Given the description of an element on the screen output the (x, y) to click on. 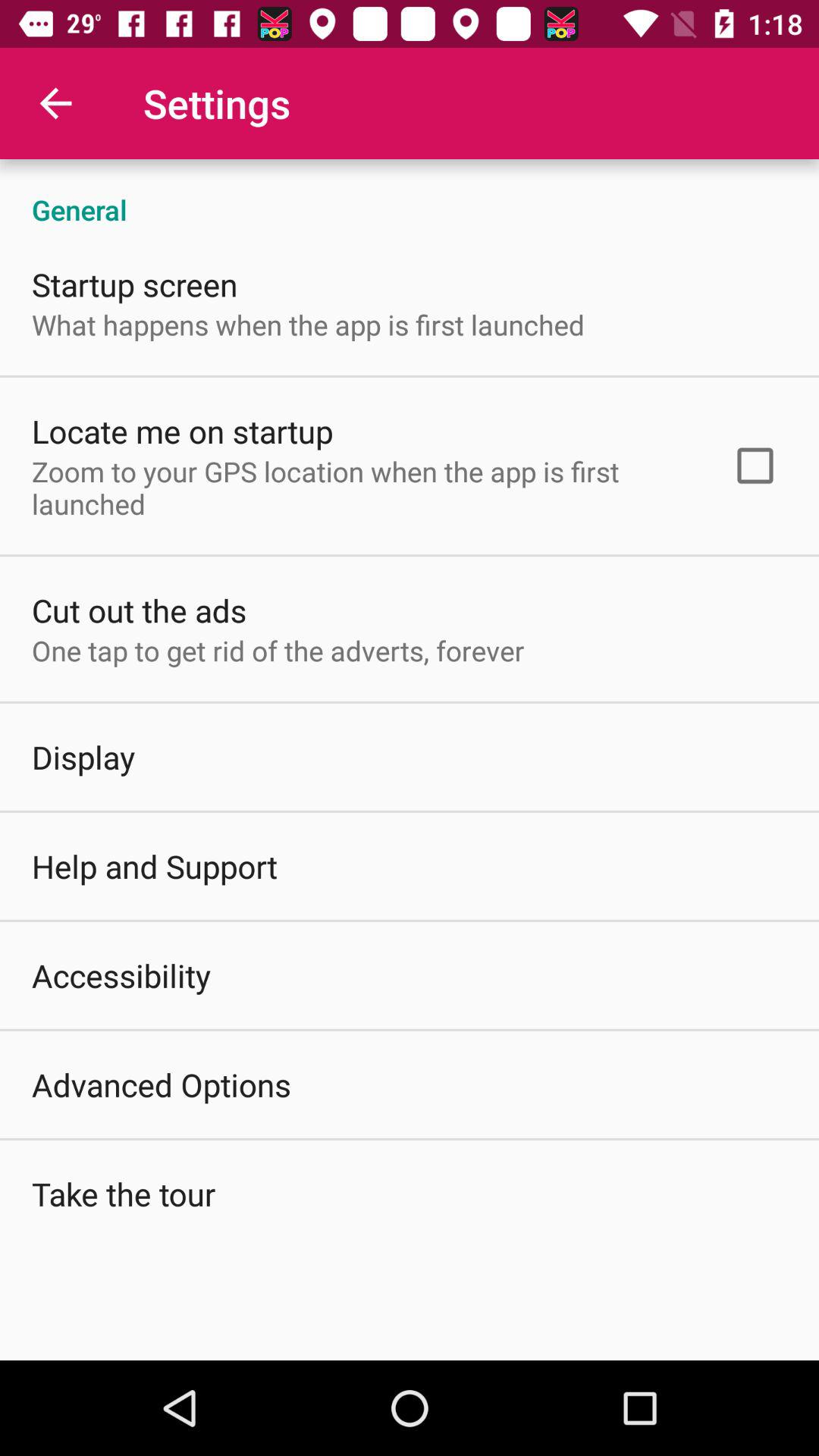
launch the icon above the locate me on (307, 324)
